Given the description of an element on the screen output the (x, y) to click on. 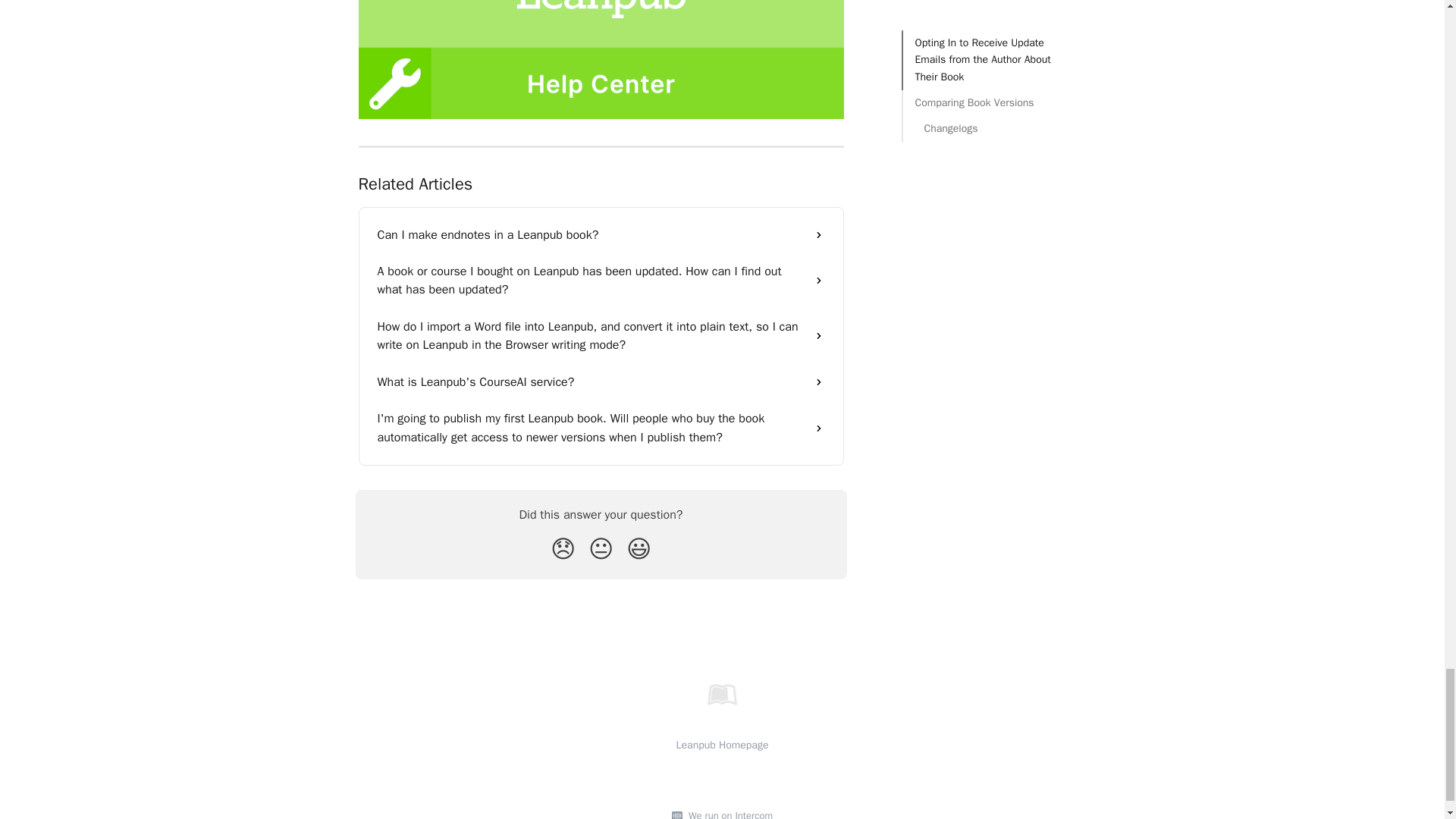
Leanpub Homepage (722, 744)
Can I make endnotes in a Leanpub book? (601, 235)
What is Leanpub's CourseAI service? (601, 381)
